Given the description of an element on the screen output the (x, y) to click on. 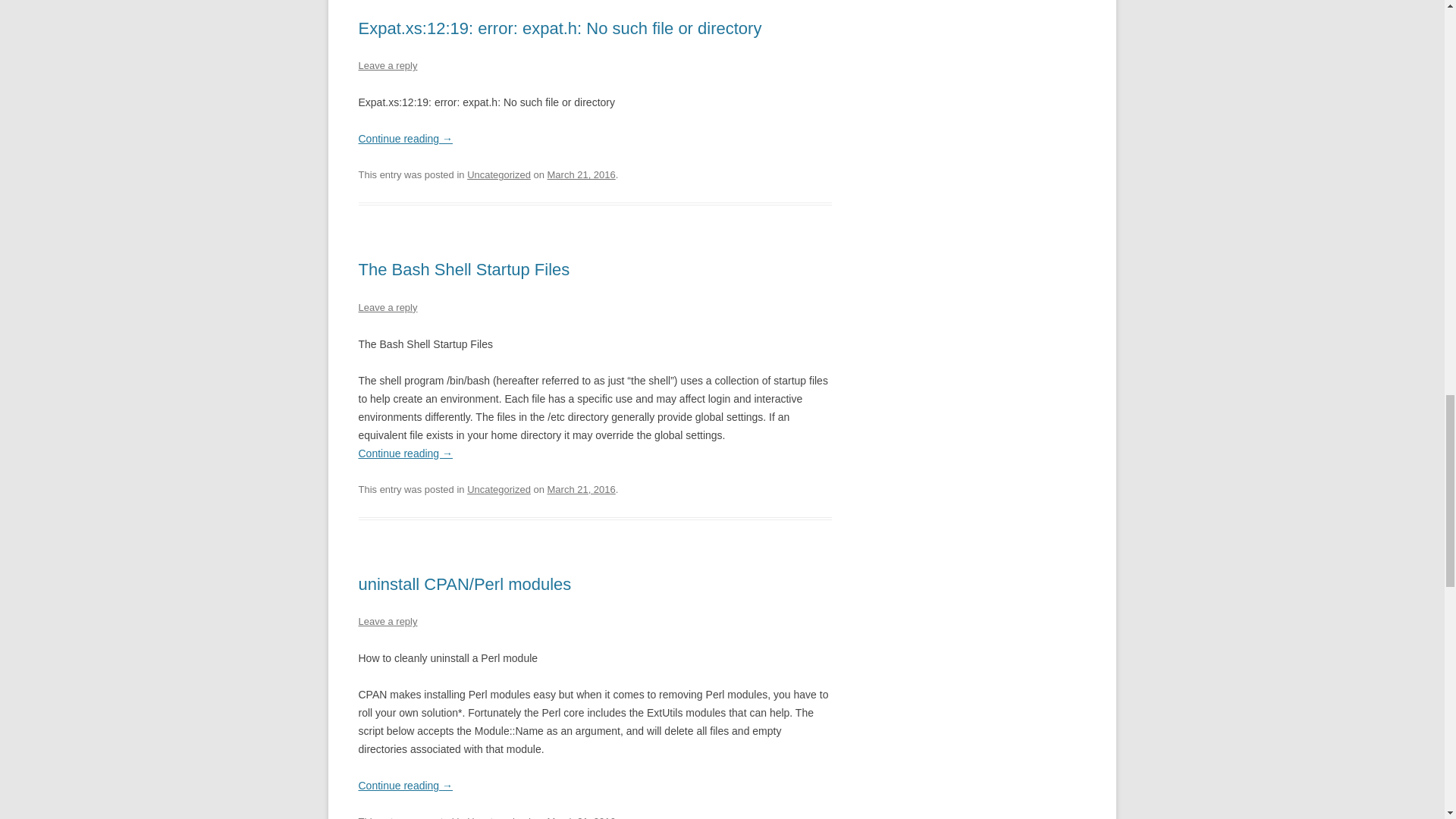
5:28 am (581, 174)
March 21, 2016 (581, 174)
Leave a reply (387, 65)
Uncategorized (499, 174)
Expat.xs:12:19: error: expat.h: No such file or directory (559, 27)
4:46 am (581, 489)
